Given the description of an element on the screen output the (x, y) to click on. 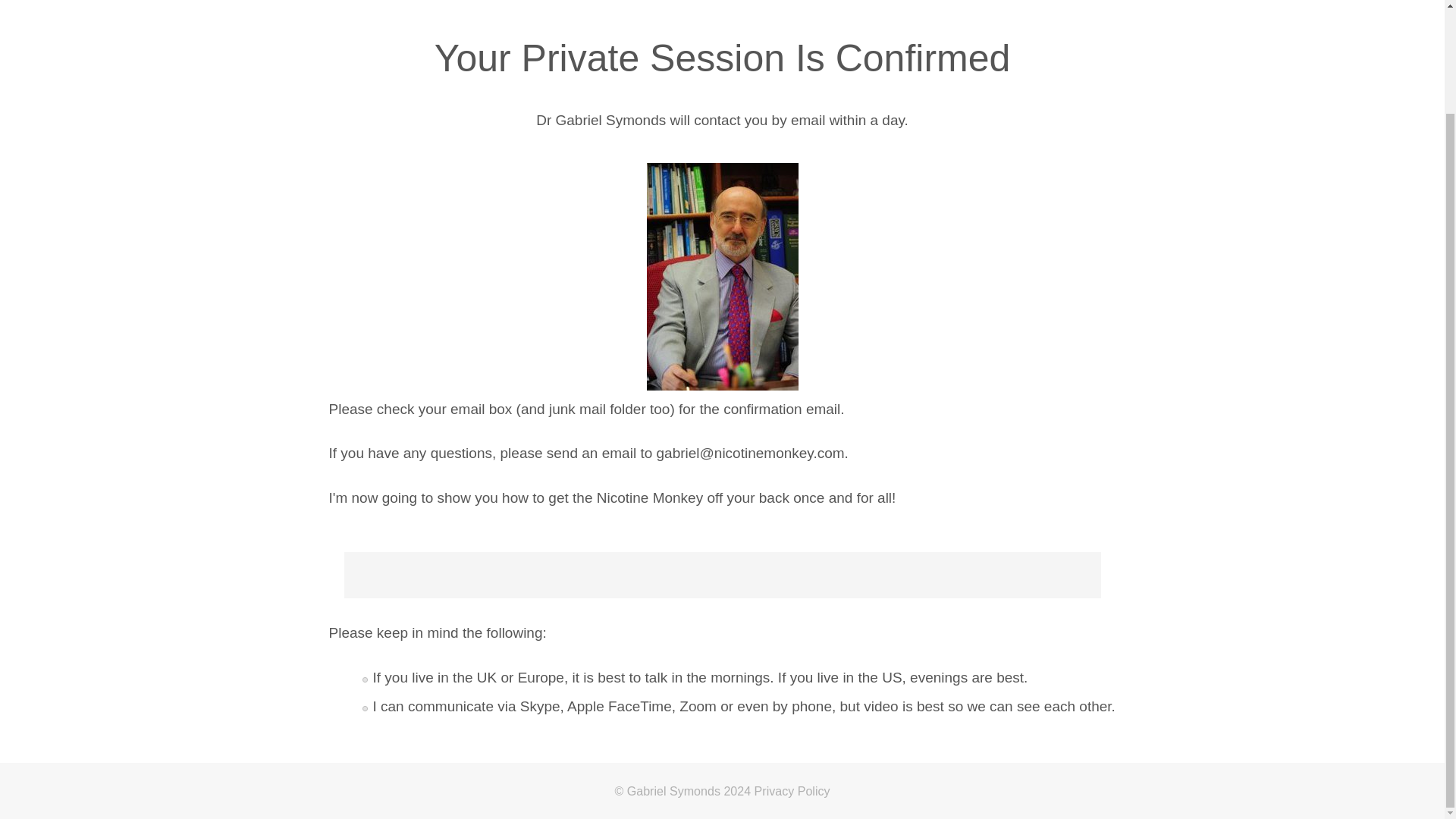
Privacy Policy (791, 790)
